Given the description of an element on the screen output the (x, y) to click on. 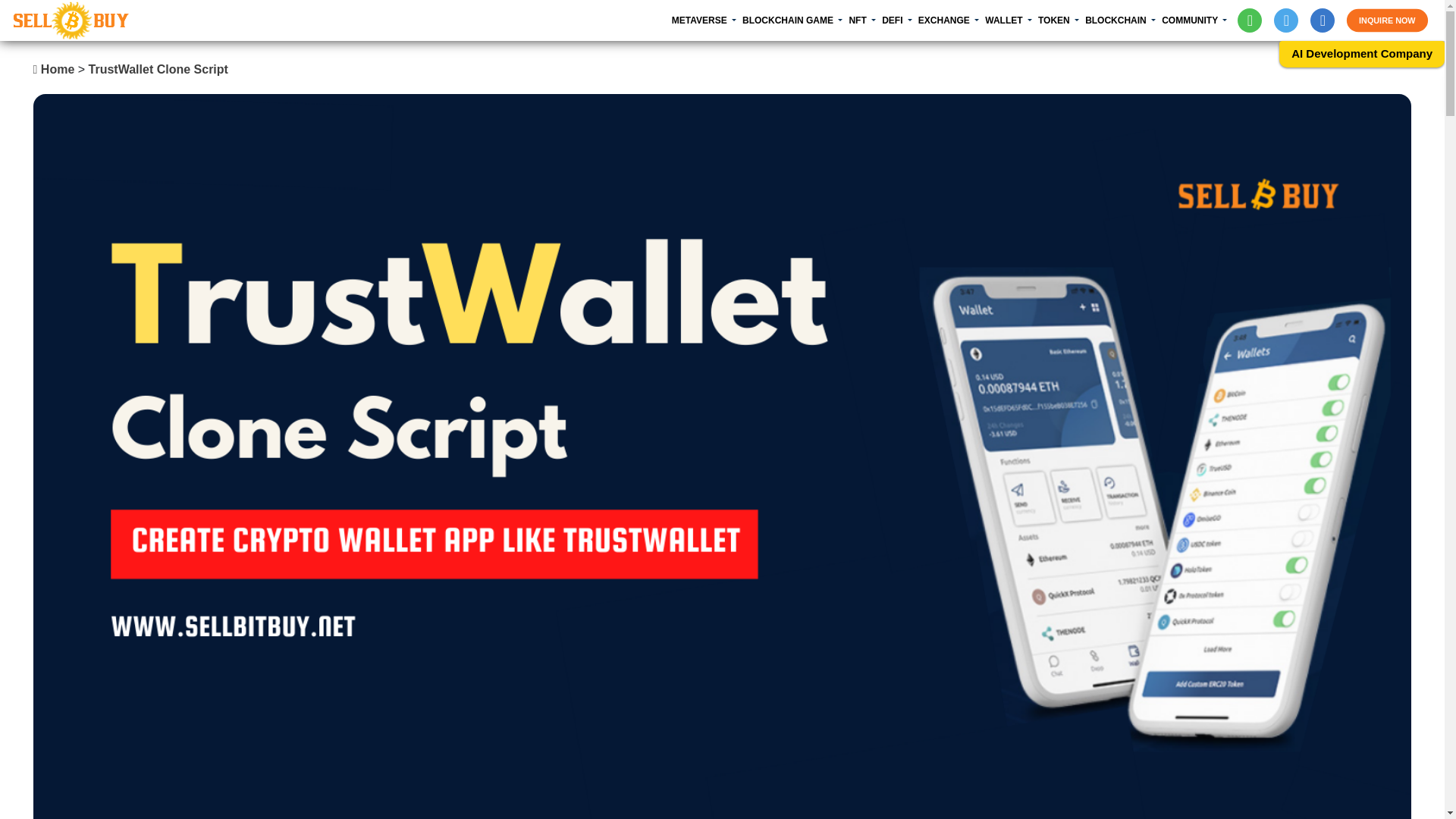
Metaverse Solutions (766, 55)
Blockchain Game (836, 55)
Opensea Clone Script (1038, 55)
NFT Development (942, 55)
AI Development Company (1361, 52)
Blockchain Game Development (939, 55)
NFT (865, 20)
METAVERSE (706, 20)
Sellbitbuy (71, 20)
BLOCKCHAIN GAME (795, 20)
Metaverse Game Development (885, 55)
